Given the description of an element on the screen output the (x, y) to click on. 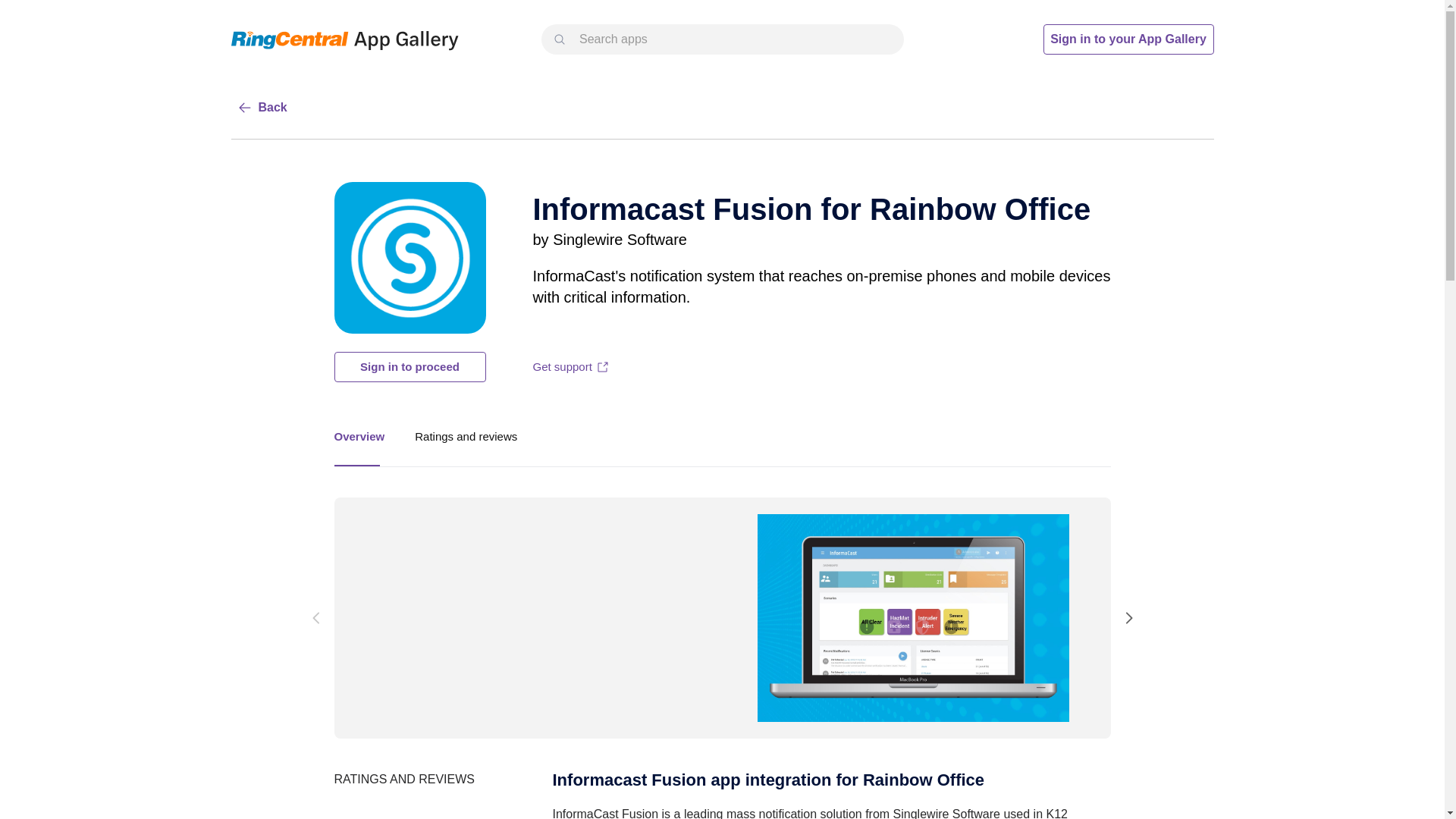
by Singlewire Software (608, 239)
Informacast Fusion for Rainbow Office (721, 436)
Get support (811, 208)
Sign in to proceed (570, 366)
Back (408, 367)
Ratings and reviews (261, 107)
Sign in to your App Gallery (465, 436)
Get support (1128, 39)
